Given the description of an element on the screen output the (x, y) to click on. 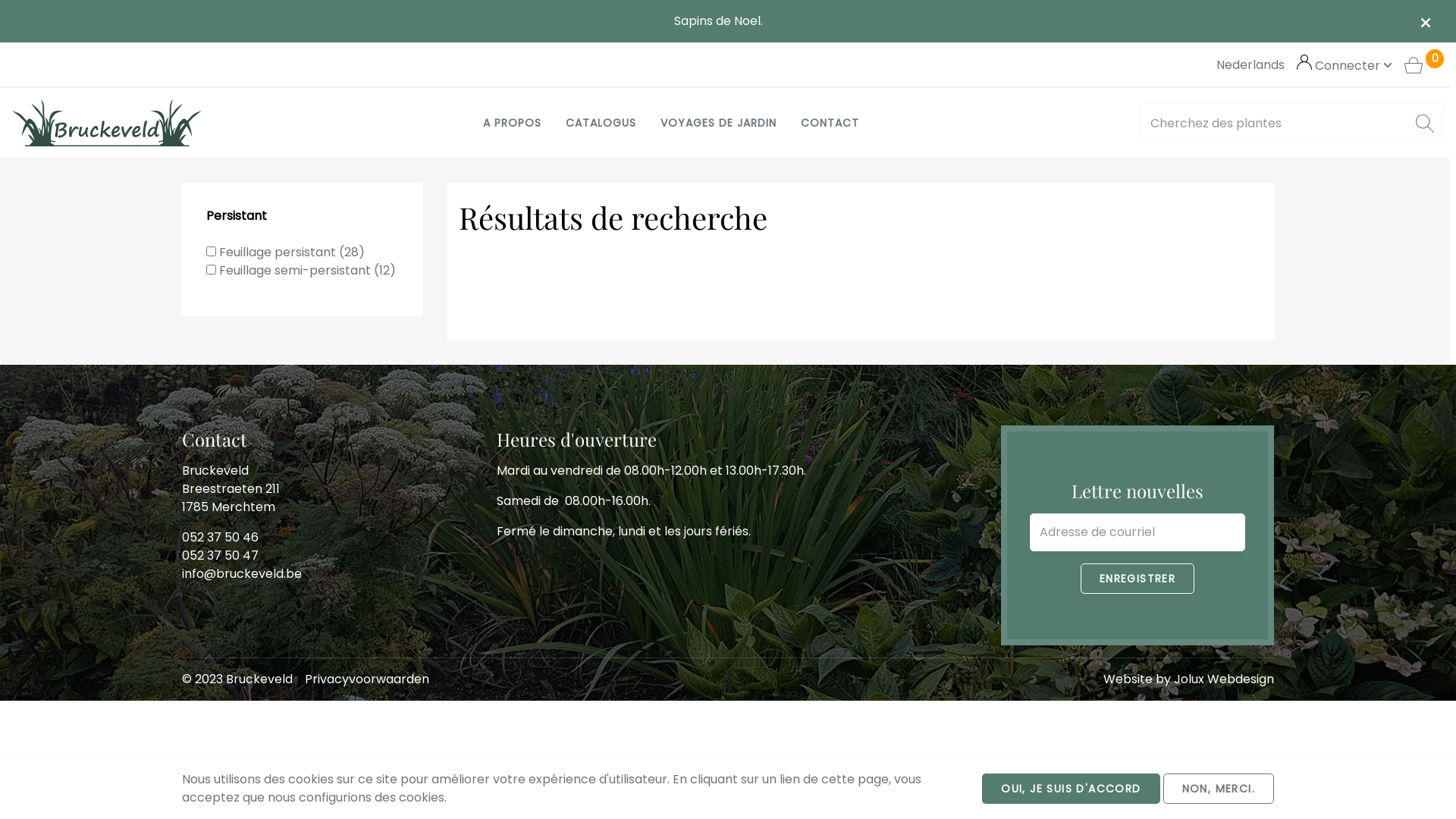
ENREGISTRER Element type: text (1137, 578)
OUI, JE SUIS D'ACCORD Element type: text (1070, 788)
Nederlands Element type: text (1250, 64)
Sapins de Noel. Element type: text (718, 20)
info@bruckeveld.be Element type: text (241, 573)
Jolux Webdesign Element type: text (1223, 678)
Aller au contenu principal Element type: text (0, 0)
052 37 50 46 Element type: text (220, 537)
A PROPOS Element type: text (511, 123)
NON, MERCI. Element type: text (1218, 788)
Connecter Ouvert Element type: text (1344, 65)
CONTACT Element type: text (829, 123)
CATALOGUS Element type: text (600, 123)
0 Element type: text (1423, 65)
VOYAGES DE JARDIN Element type: text (718, 123)
Privacyvoorwaarden Element type: text (366, 679)
